Given the description of an element on the screen output the (x, y) to click on. 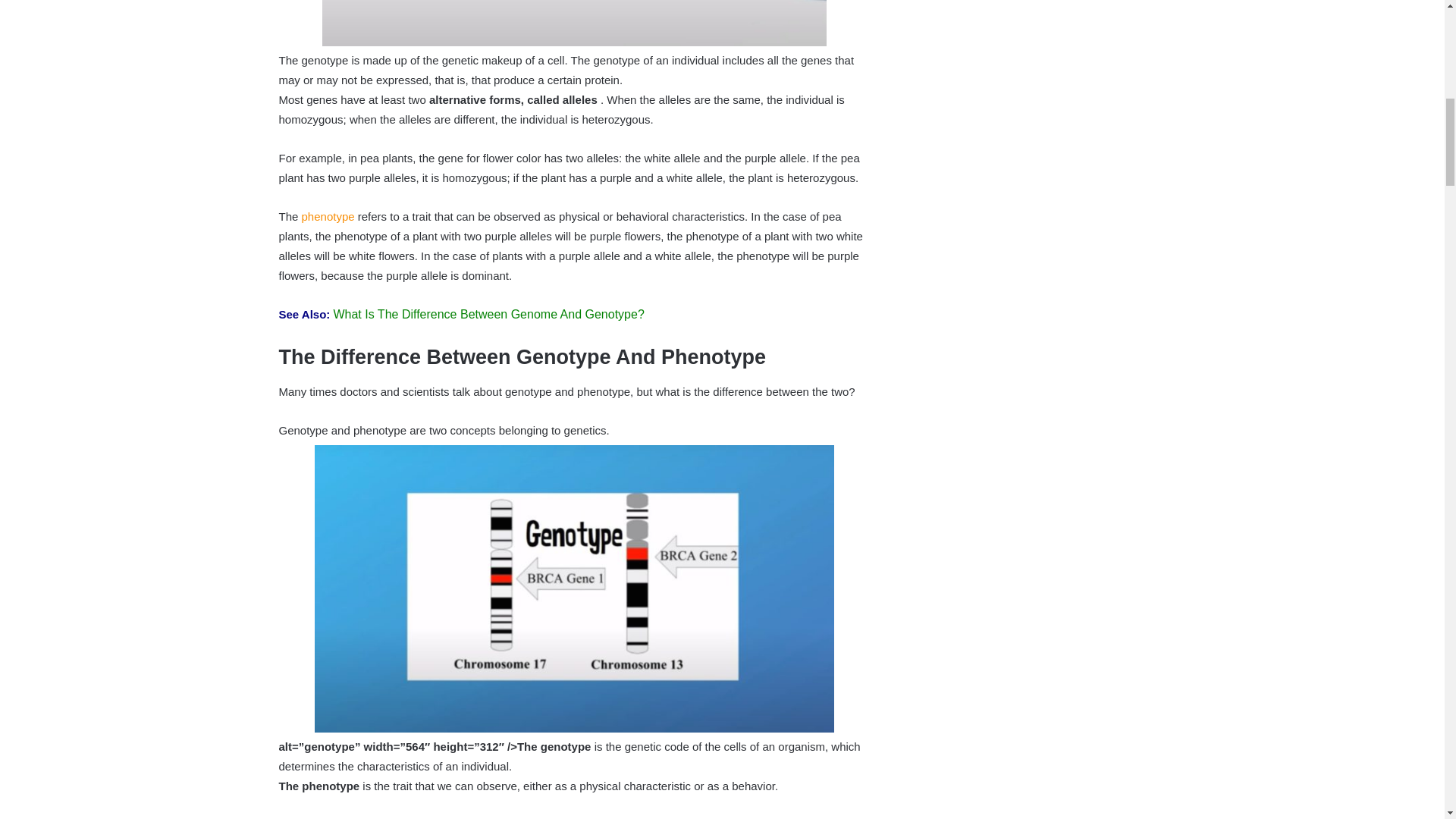
phenotype (328, 215)
What Is The Difference Between Genome And Genotype? (488, 314)
genotype (462, 818)
